Given the description of an element on the screen output the (x, y) to click on. 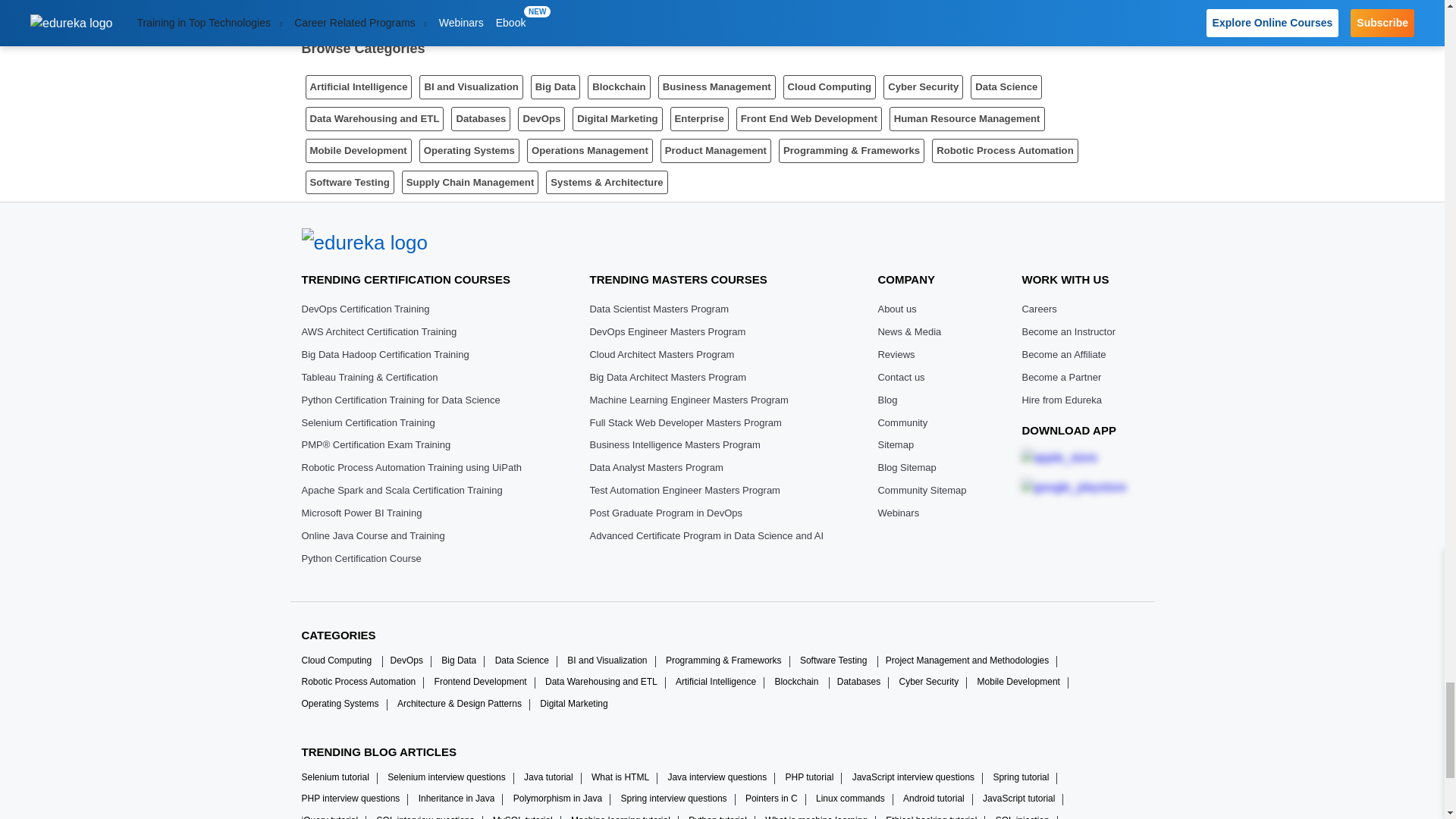
Digital Marketing Blogs (617, 119)
Cloud Computing Blogs (829, 87)
Databases Blogs (481, 119)
Front End Web Development Blogs (809, 119)
Big Data Blogs (555, 87)
Artificial Intelligence Blogs (358, 87)
Blockchain Blogs (618, 87)
Mobile Development Blogs (357, 150)
Business Management Blogs (717, 87)
BI and Visualization Blogs (470, 87)
